Given the description of an element on the screen output the (x, y) to click on. 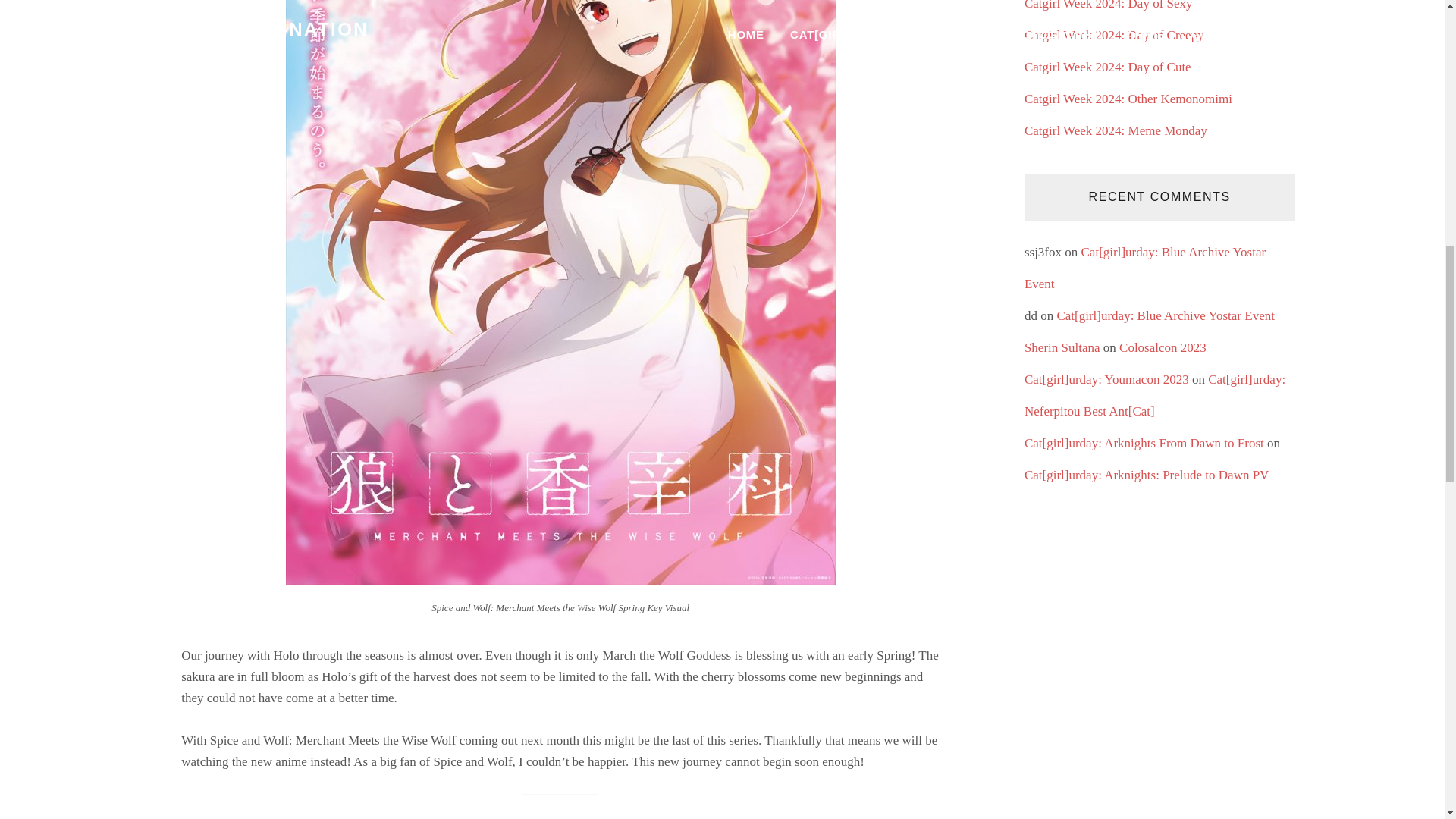
Catgirl Week 2024: Day of Sexy (1108, 5)
Catgirl Week 2024: Day of Cute (1108, 66)
Sherin Sultana (1062, 347)
Catgirl Week 2024: Meme Monday (1116, 130)
Catgirl Week 2024: Day of Creepy (1114, 34)
Catgirl Week 2024: Other Kemonomimi (1128, 98)
